Given the description of an element on the screen output the (x, y) to click on. 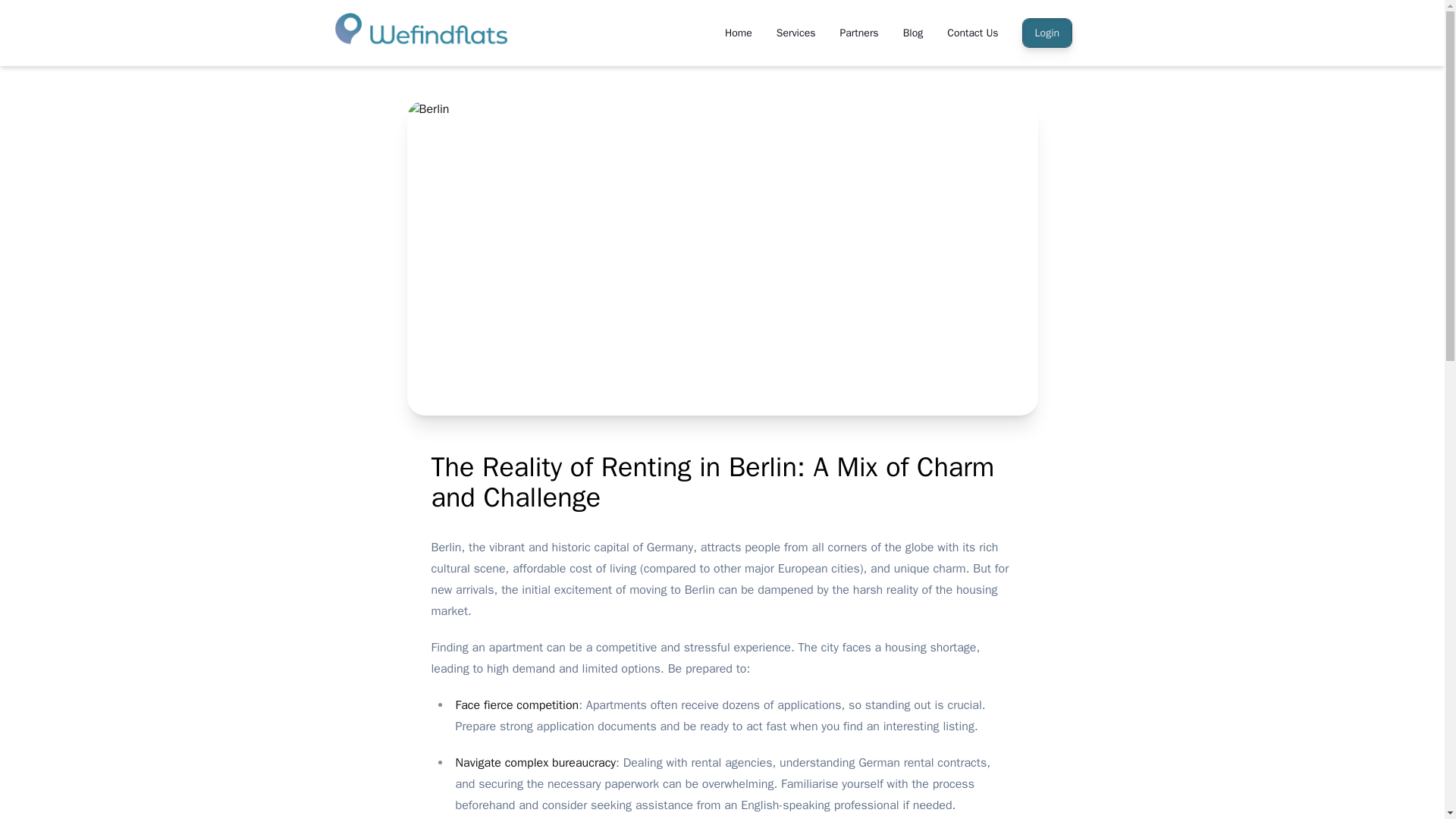
Contact Us (972, 32)
Blog (913, 32)
Services (796, 32)
Home (738, 32)
Login (1047, 32)
Partners (858, 32)
